Given the description of an element on the screen output the (x, y) to click on. 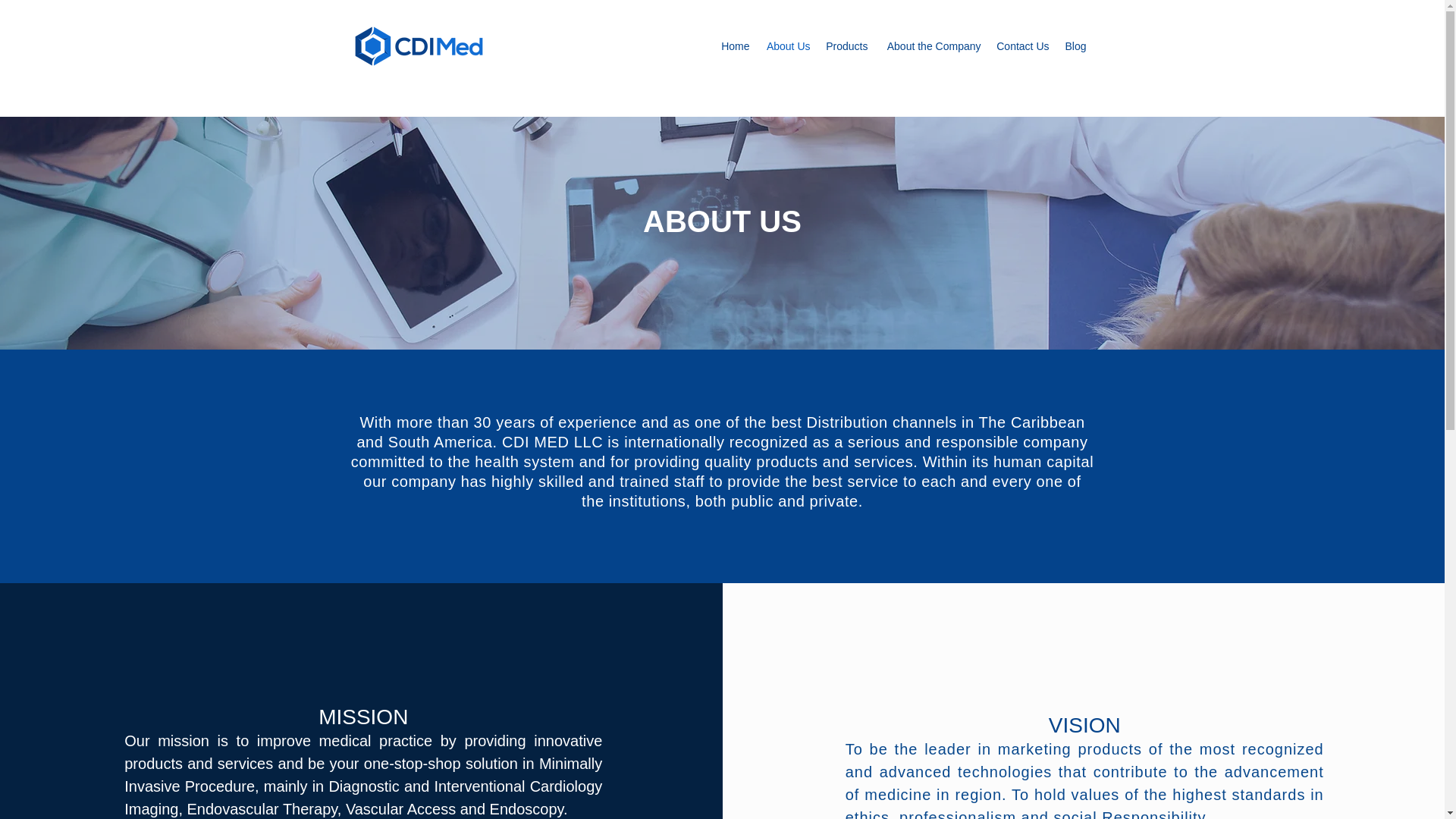
Products (845, 46)
About Us (786, 46)
About the Company (931, 46)
Home (735, 46)
Blog (1075, 46)
Contact Us (1022, 46)
